Given the description of an element on the screen output the (x, y) to click on. 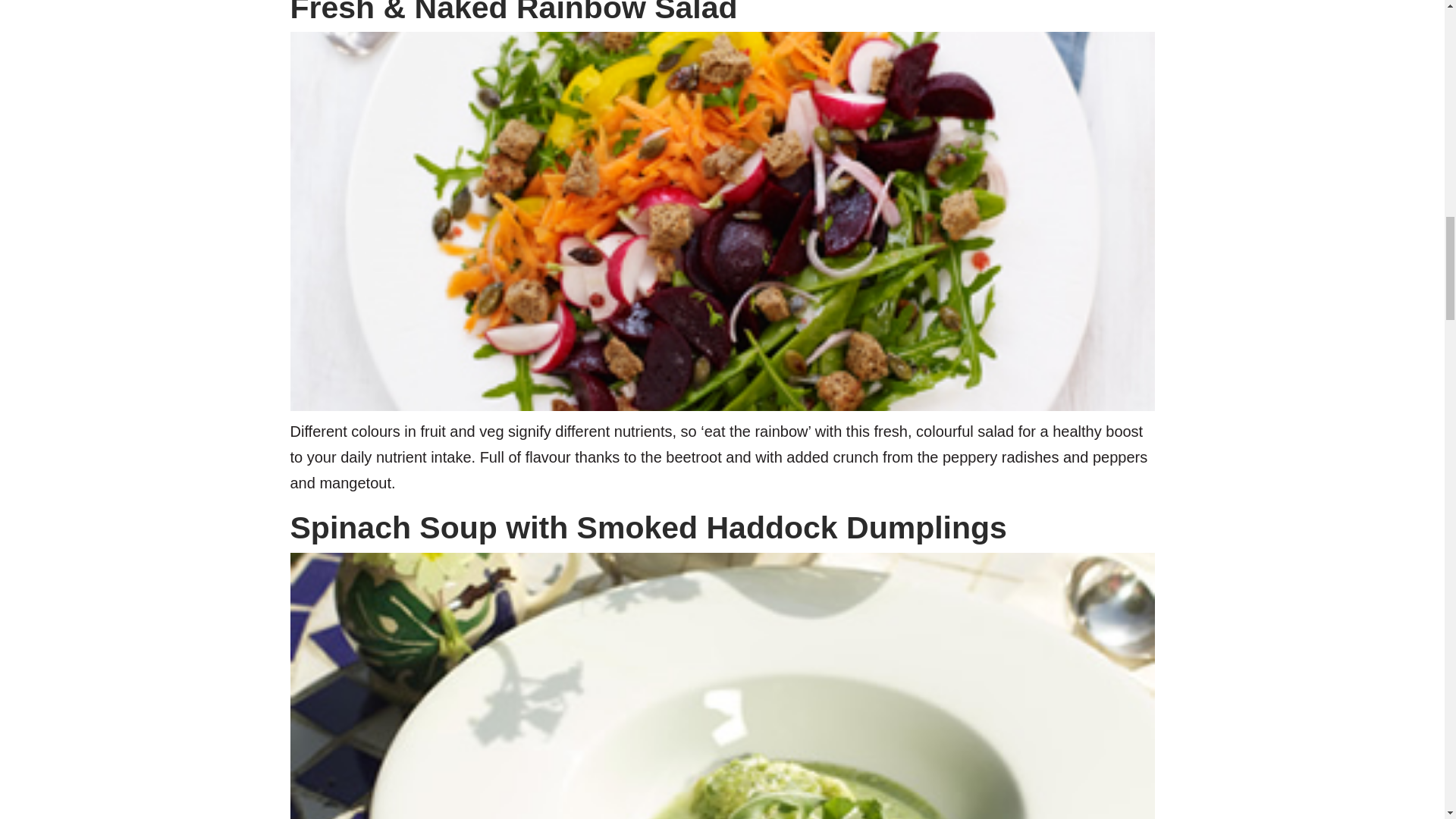
Spinach Soup with Smoked Haddock Dumplings (647, 527)
